Given the description of an element on the screen output the (x, y) to click on. 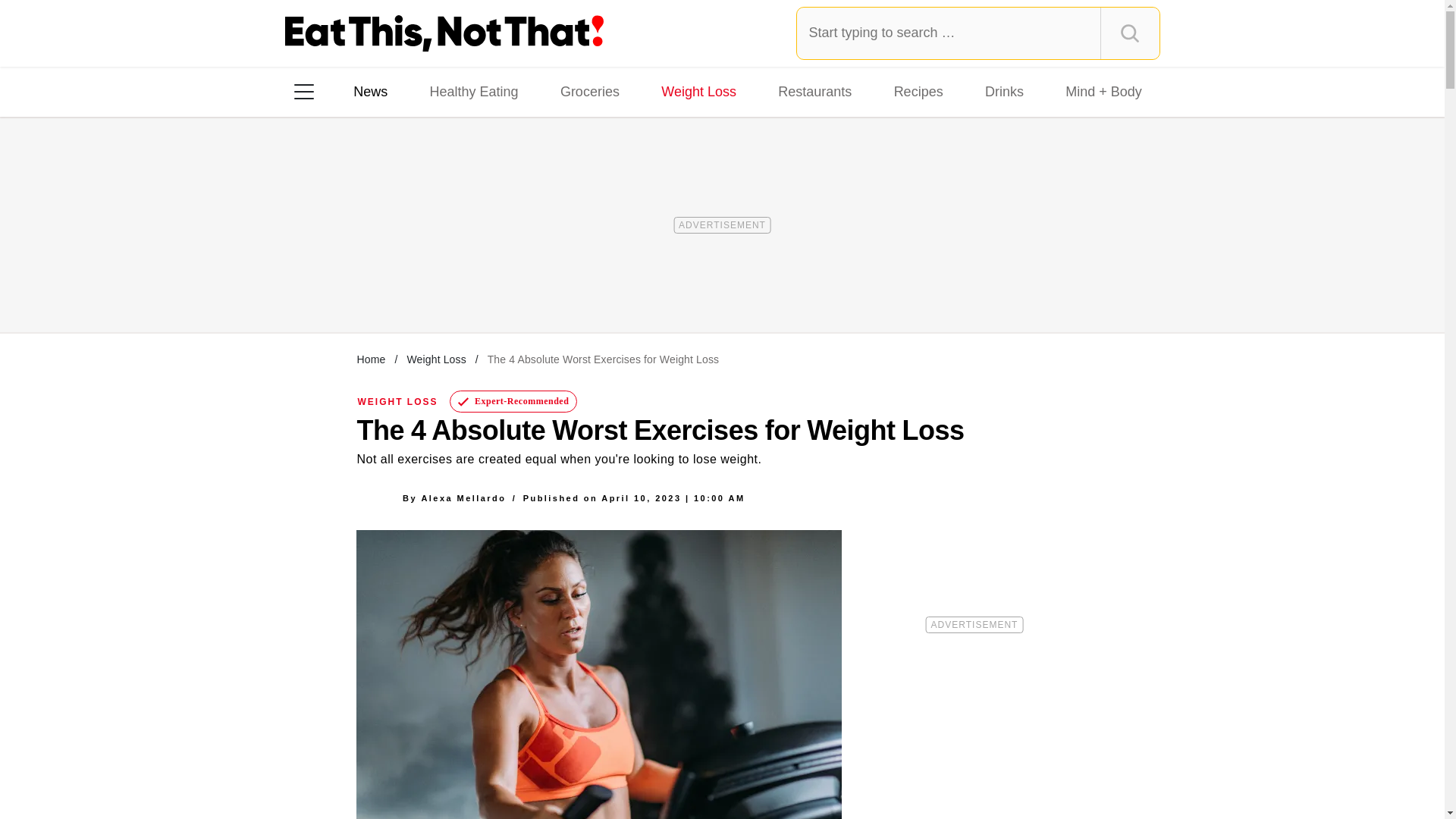
Groceries (590, 91)
Eat This Not That Homepage (444, 33)
TikTok (399, 287)
Posts by Alexa Mellardo (462, 497)
Facebook (314, 287)
Home (370, 358)
Healthy Eating (473, 91)
TikTok (399, 287)
Instagram (357, 287)
Instagram (357, 287)
